Given the description of an element on the screen output the (x, y) to click on. 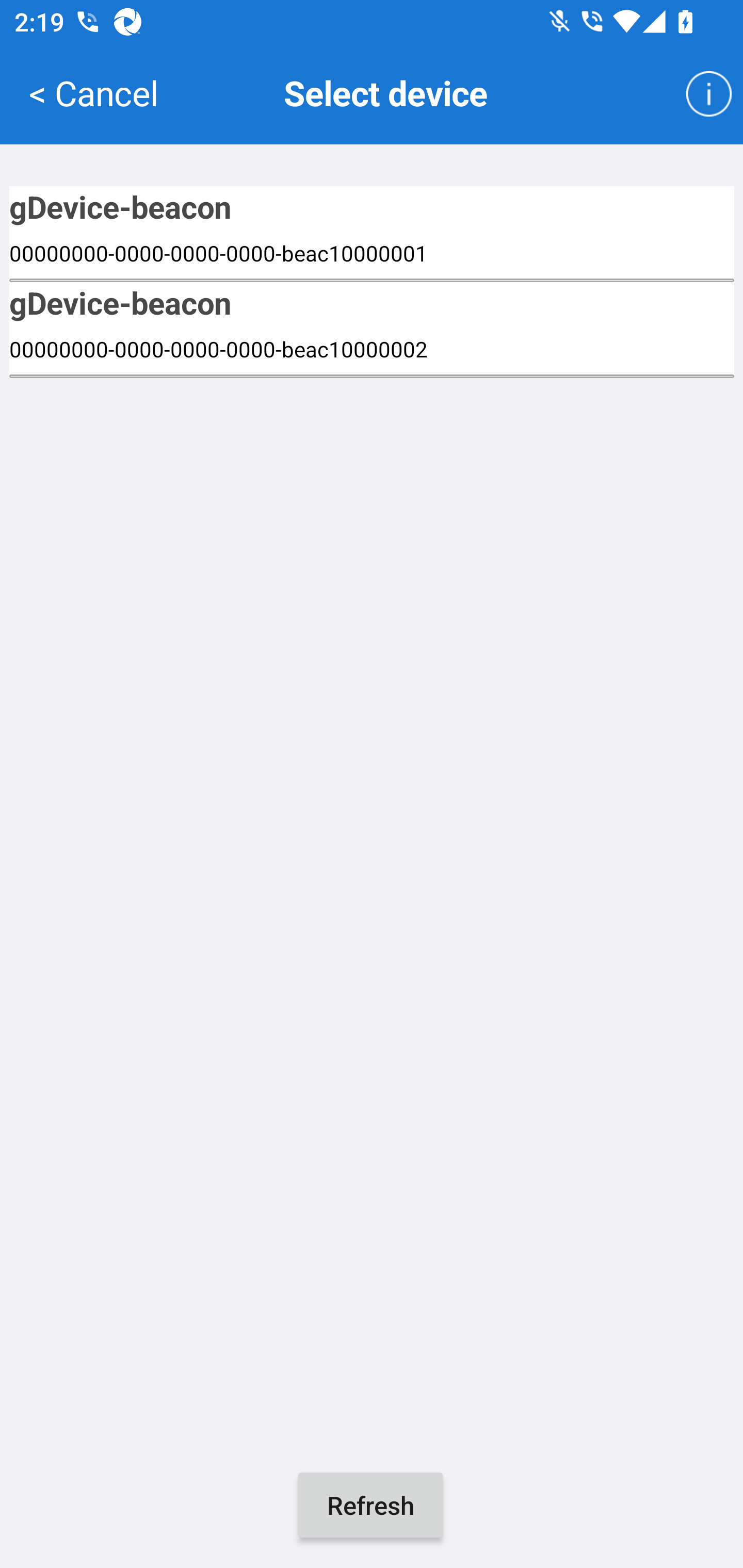
< Cancel (93, 92)
Refresh (370, 1505)
